Given the description of an element on the screen output the (x, y) to click on. 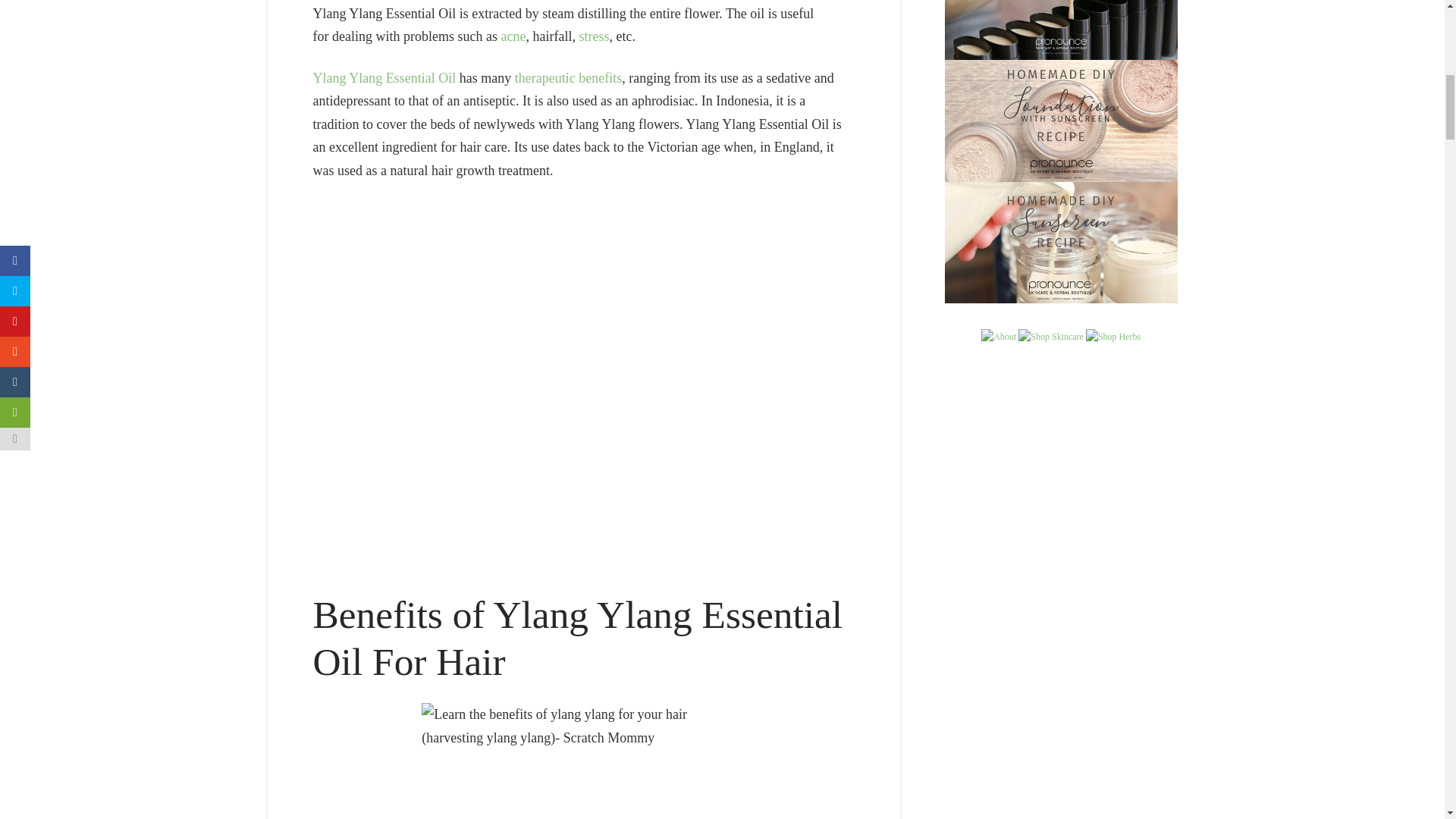
therapeutic benefits (568, 77)
Ylang Ylang Essential Oil (384, 77)
acne (512, 36)
stress (593, 36)
